Given the description of an element on the screen output the (x, y) to click on. 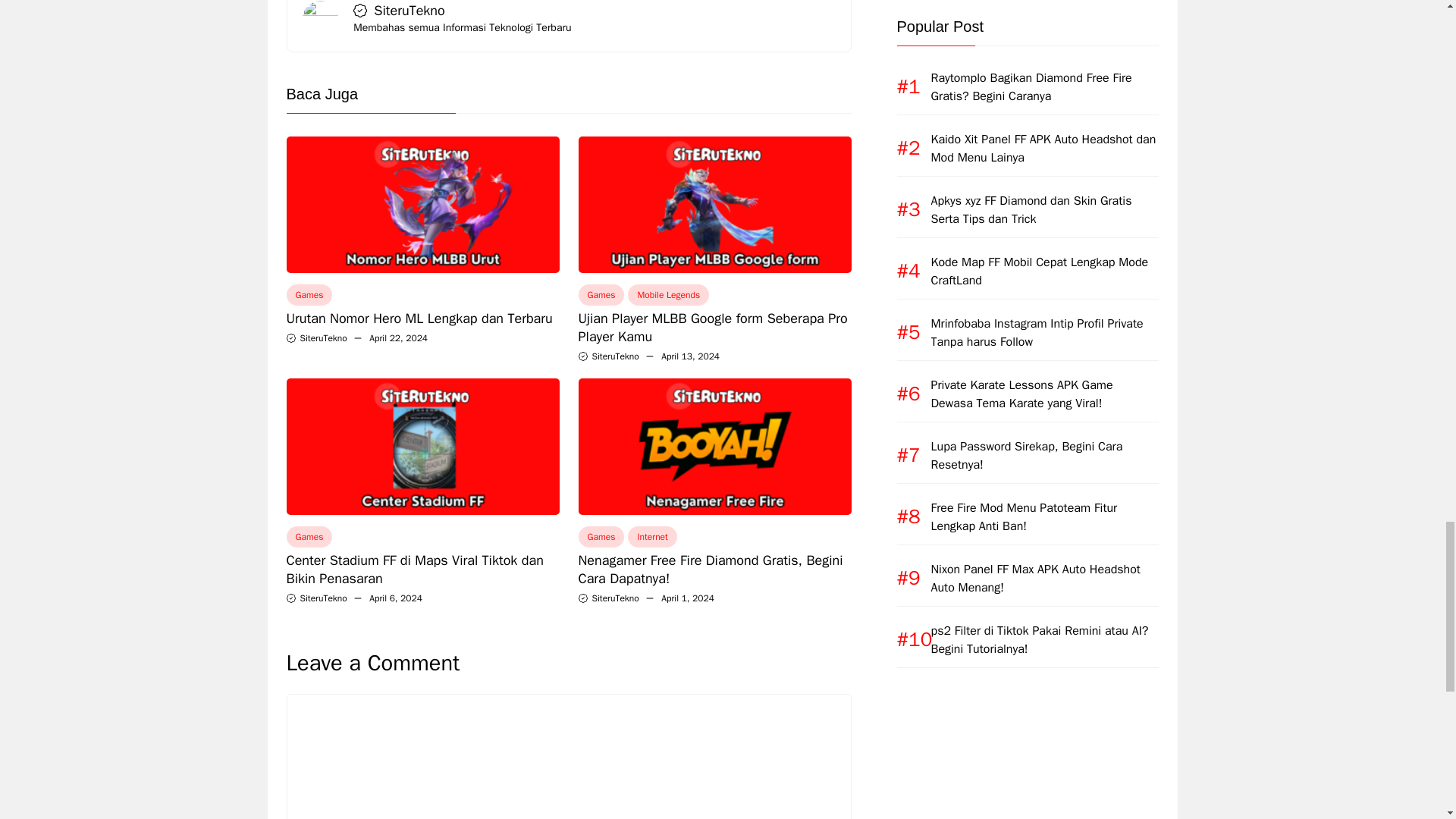
Games (601, 536)
SiteruTekno (323, 598)
Games (309, 536)
Internet (652, 536)
Games (601, 294)
Urutan Nomor Hero ML Lengkap dan Terbaru (419, 318)
SiteruTekno (323, 337)
Mobile Legends (668, 294)
Ujian Player MLBB Google form Seberapa Pro Player Kamu (712, 327)
Nenagamer Free Fire Diamond Gratis, Begini Cara Dapatnya! (710, 569)
Center Stadium FF di Maps Viral Tiktok dan Bikin Penasaran (414, 569)
Games (309, 294)
SiteruTekno (615, 356)
SiteruTekno (409, 10)
